Given the description of an element on the screen output the (x, y) to click on. 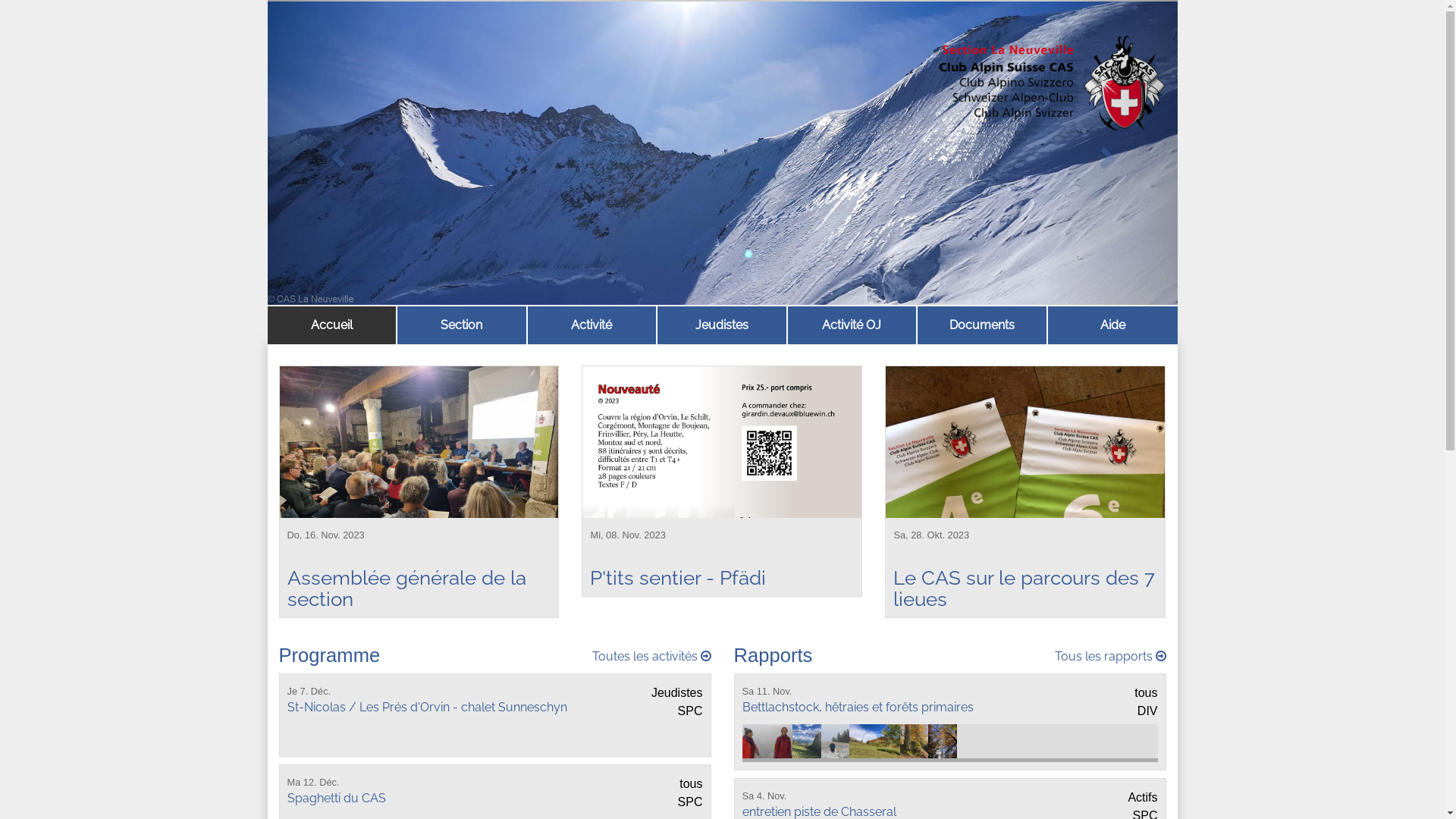
Accueil Element type: text (330, 325)
Jeudistes Element type: text (721, 325)
Le CAS sur le parcours des 7 lieues Element type: text (1023, 588)
Accueil Element type: text (331, 325)
Jeudistes Element type: text (721, 325)
Section Element type: text (461, 325)
Aide Element type: text (1112, 325)
Next Element type: text (1108, 152)
Aide Element type: text (1112, 325)
Spaghetti du CAS Element type: text (335, 797)
Section Element type: text (461, 325)
Previous Element type: text (334, 152)
Documents Element type: text (981, 325)
Documents Element type: text (981, 325)
Tous les rapports Element type: text (1109, 656)
